Given the description of an element on the screen output the (x, y) to click on. 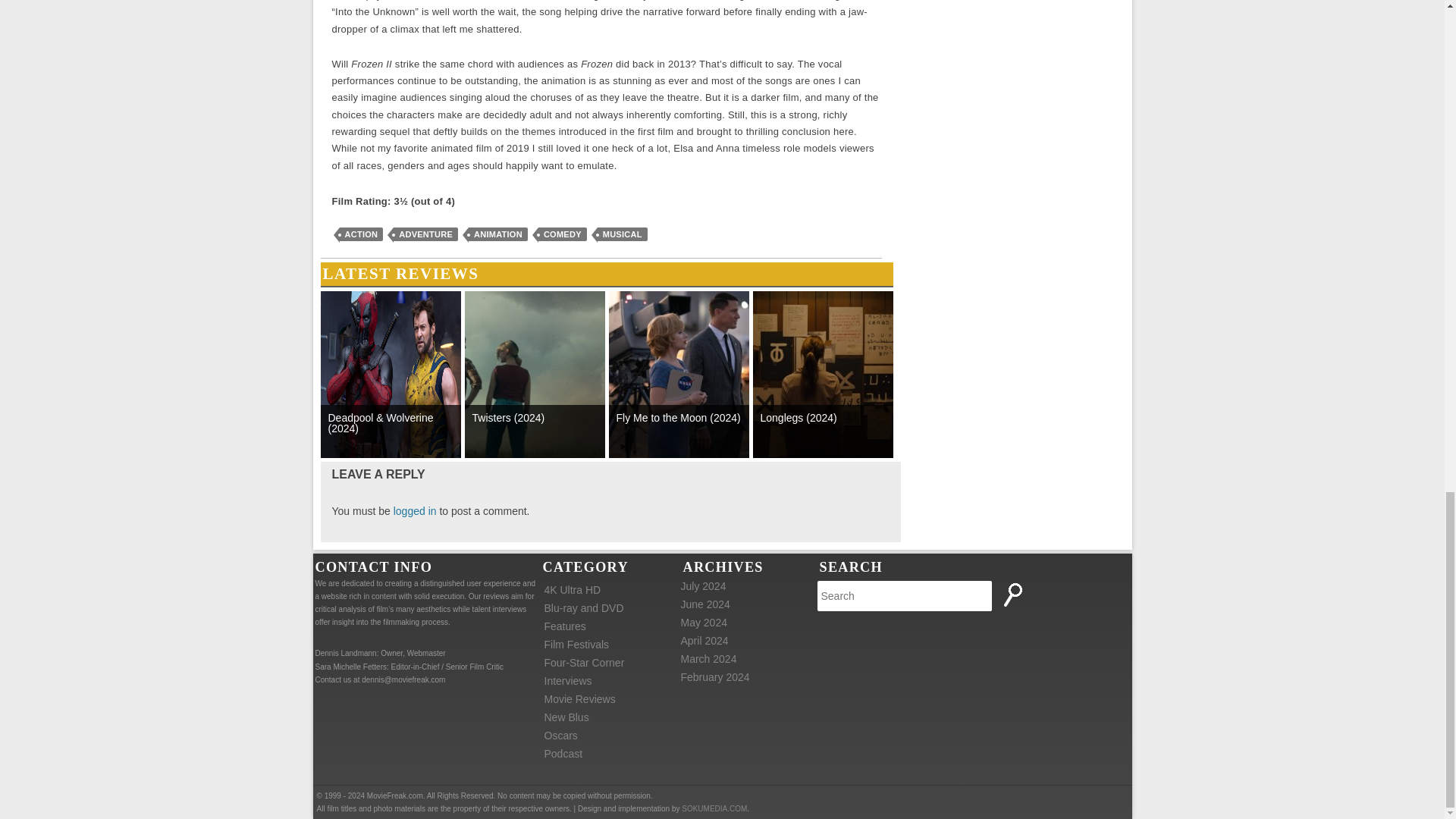
MUSICAL (621, 233)
COMEDY (562, 233)
Movie Reviews (579, 698)
Podcast (563, 753)
Features (565, 625)
Four-Star Corner (584, 662)
Search (1014, 594)
4K Ultra HD (572, 589)
ADVENTURE (425, 233)
Film Festivals (577, 644)
Oscars (561, 735)
Interviews (568, 680)
logged in (414, 510)
New Blus (566, 717)
ANIMATION (497, 233)
